Given the description of an element on the screen output the (x, y) to click on. 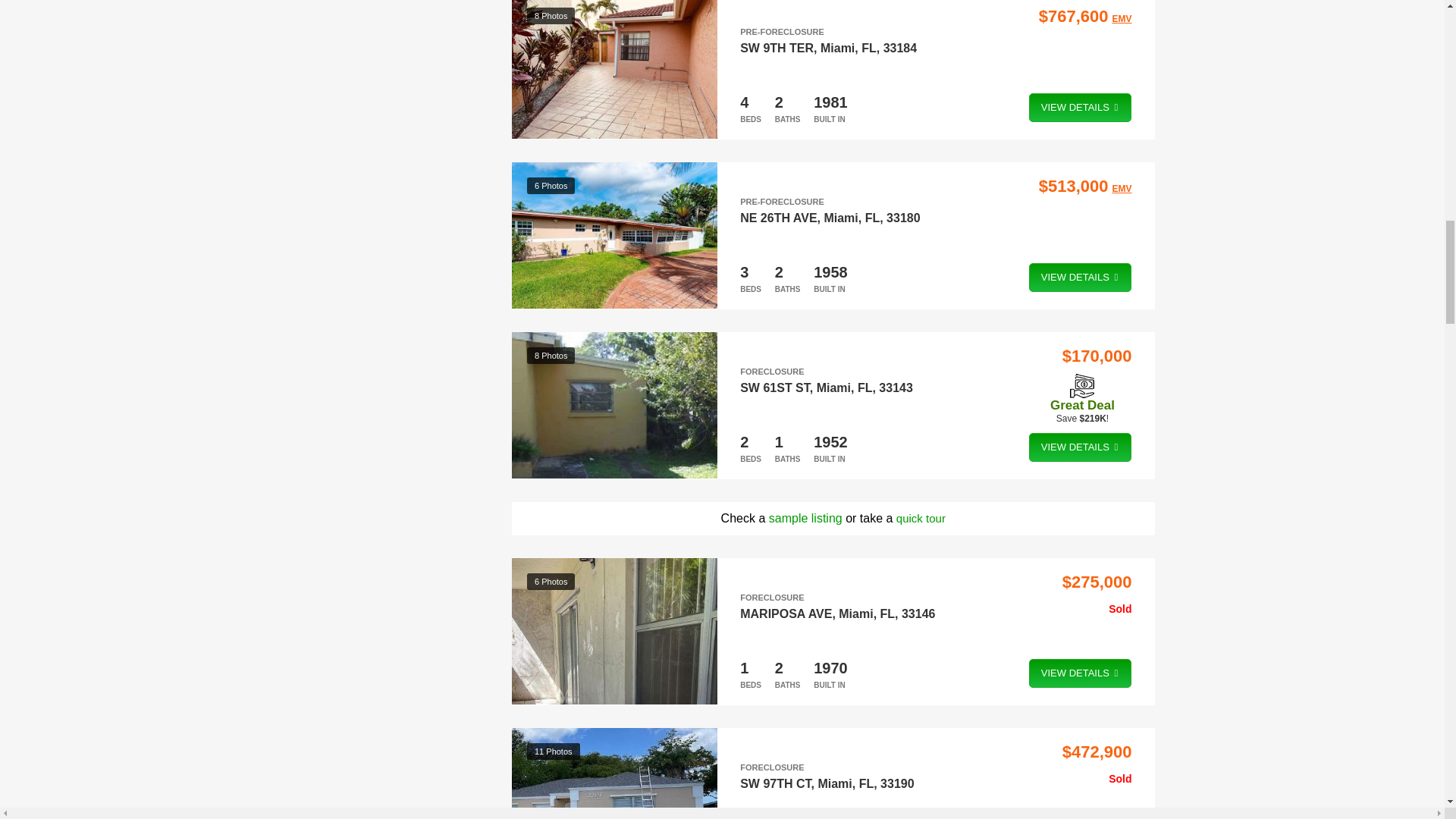
Sample Listing (805, 517)
